Given the description of an element on the screen output the (x, y) to click on. 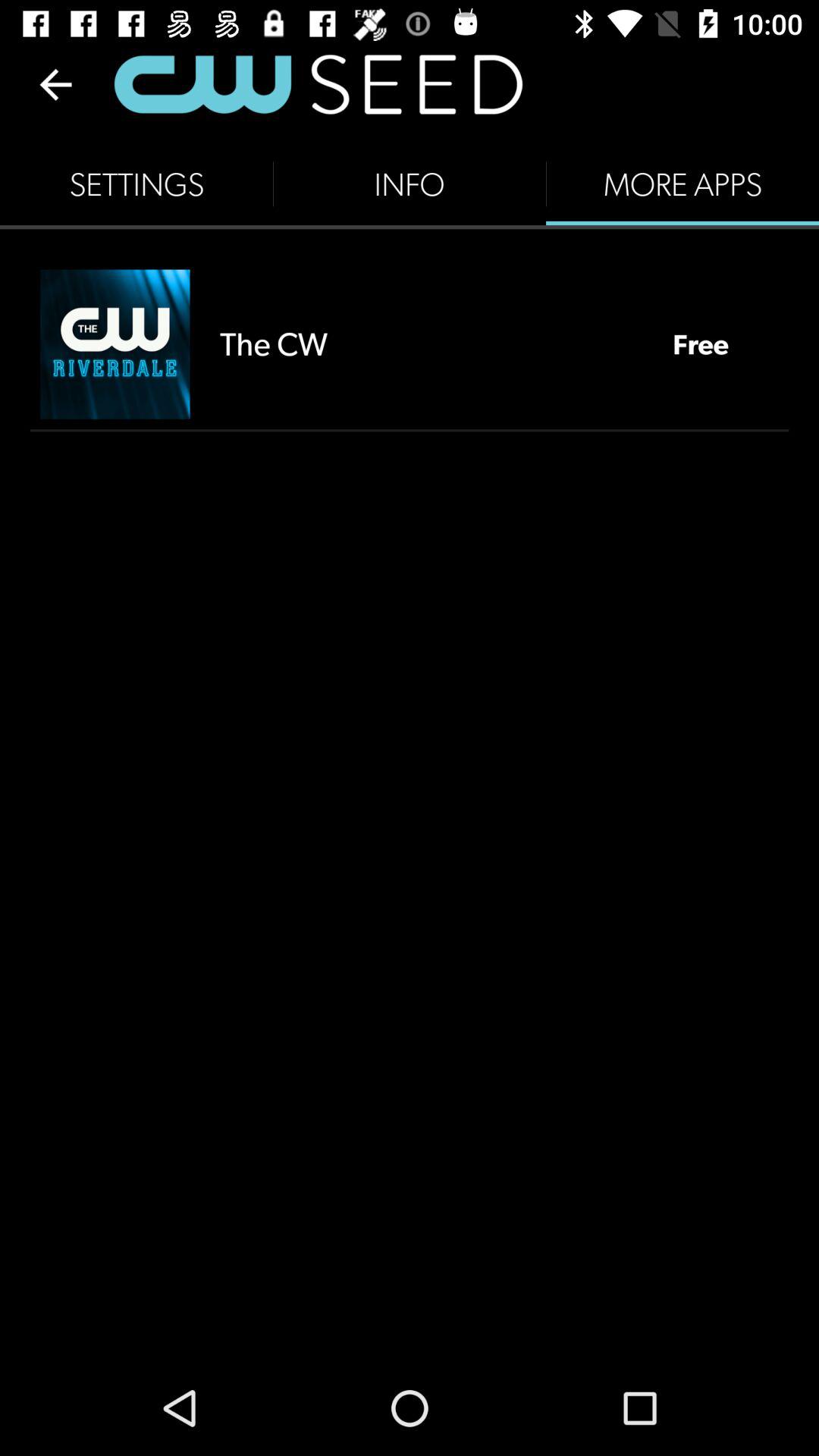
select icon below the settings item (114, 344)
